Given the description of an element on the screen output the (x, y) to click on. 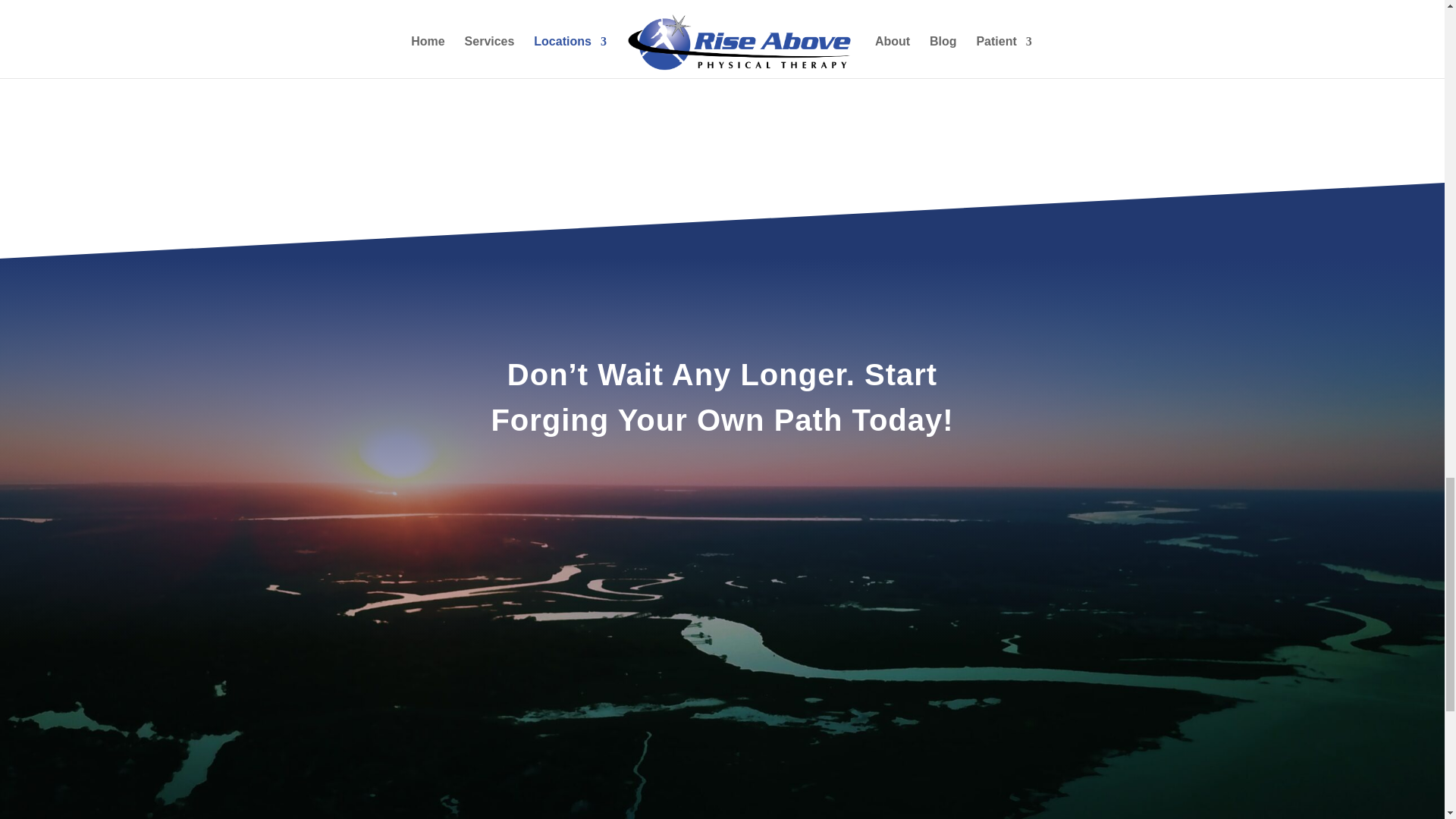
SUBMIT APPOINTMENT REQUEST (716, 50)
